Given the description of an element on the screen output the (x, y) to click on. 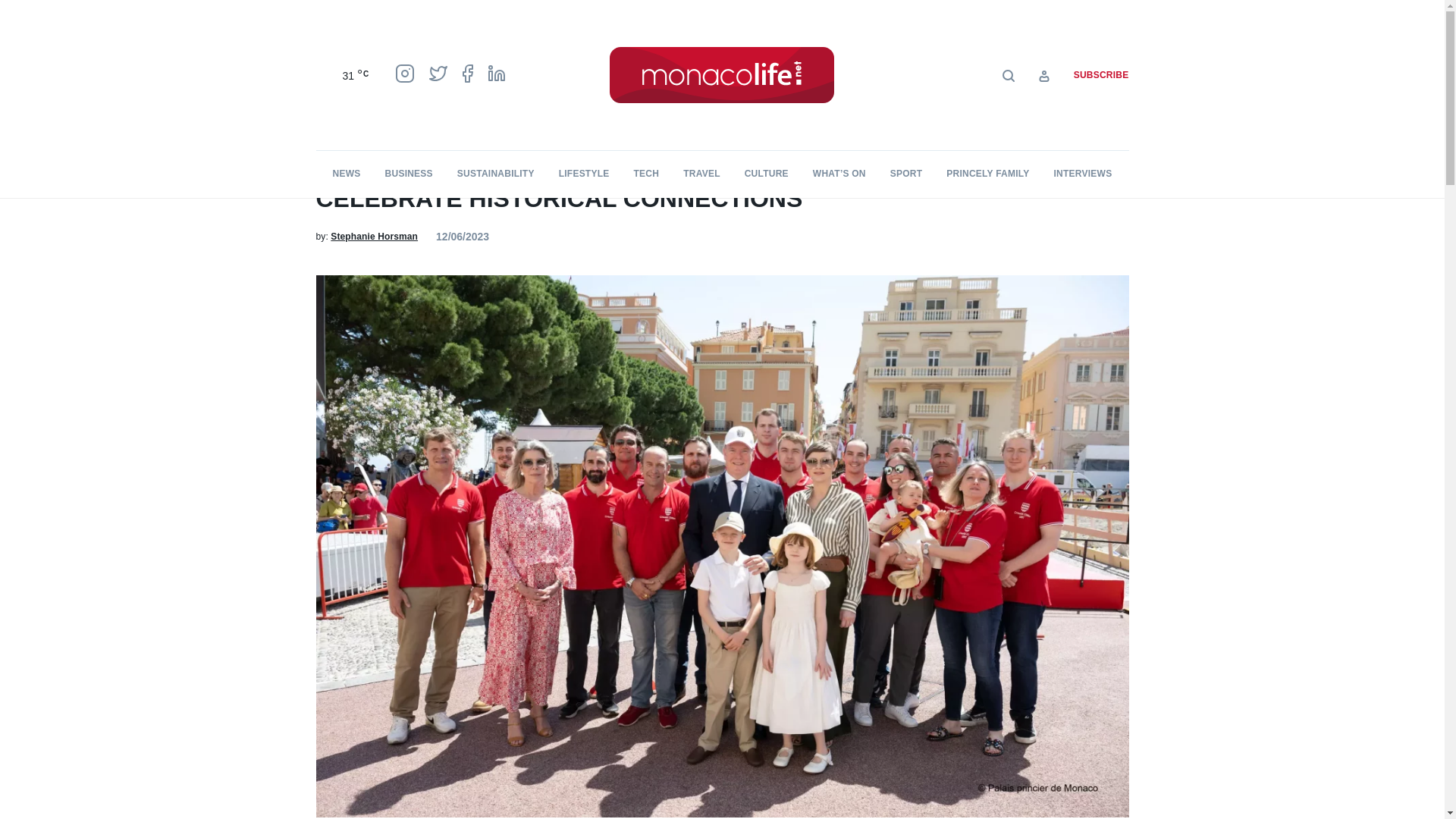
search (895, 118)
TRAVEL (701, 173)
CULTURE (766, 173)
PRINCELY FAMILY (987, 173)
LIFESTYLE (584, 173)
BUSINESS (408, 173)
PRINCELY FAMILY (406, 115)
INTERVIEWS (1083, 173)
NEWS (347, 173)
Stephanie Horsman (373, 235)
